Given the description of an element on the screen output the (x, y) to click on. 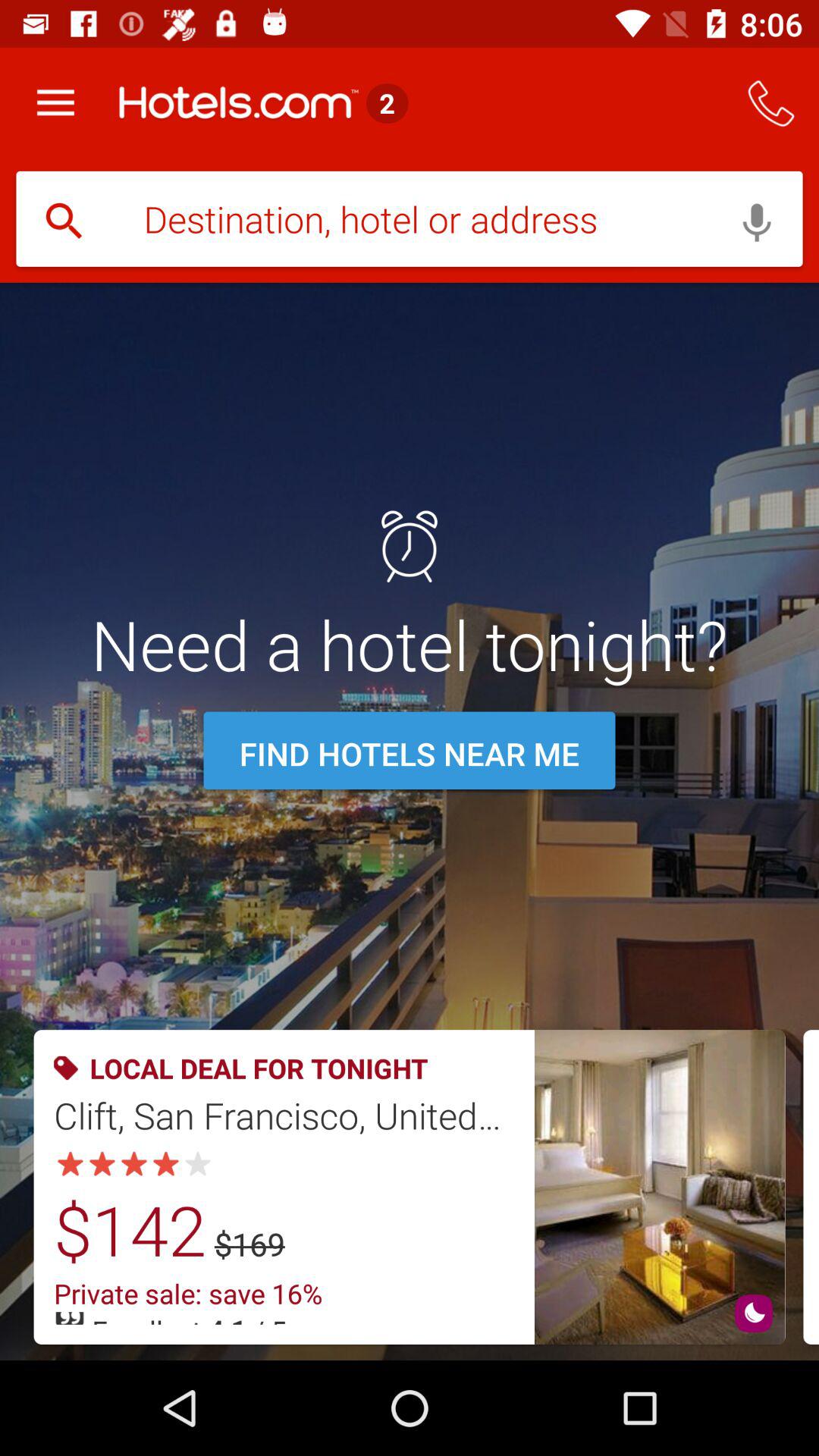
select the icon below need a hotel icon (409, 753)
